Given the description of an element on the screen output the (x, y) to click on. 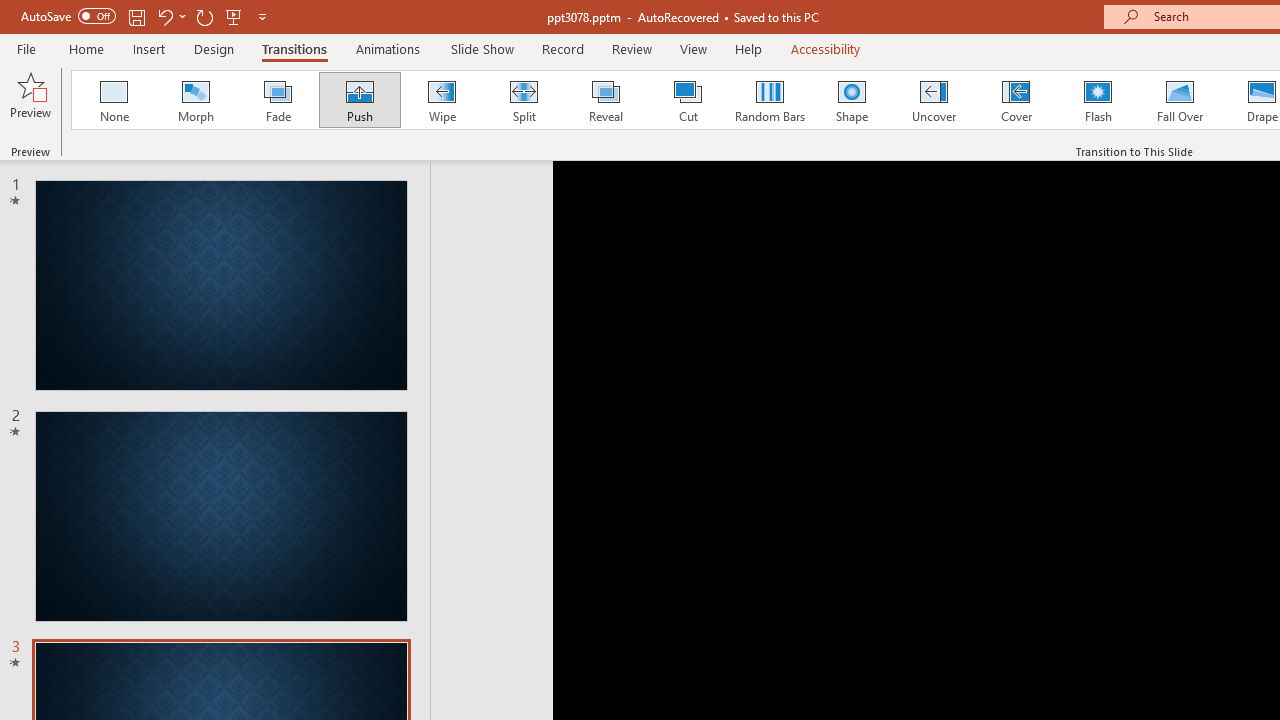
Uncover (934, 100)
Reveal (605, 100)
None (113, 100)
Push (359, 100)
Random Bars (770, 100)
Preview (30, 102)
Flash (1098, 100)
Wipe (441, 100)
